Given the description of an element on the screen output the (x, y) to click on. 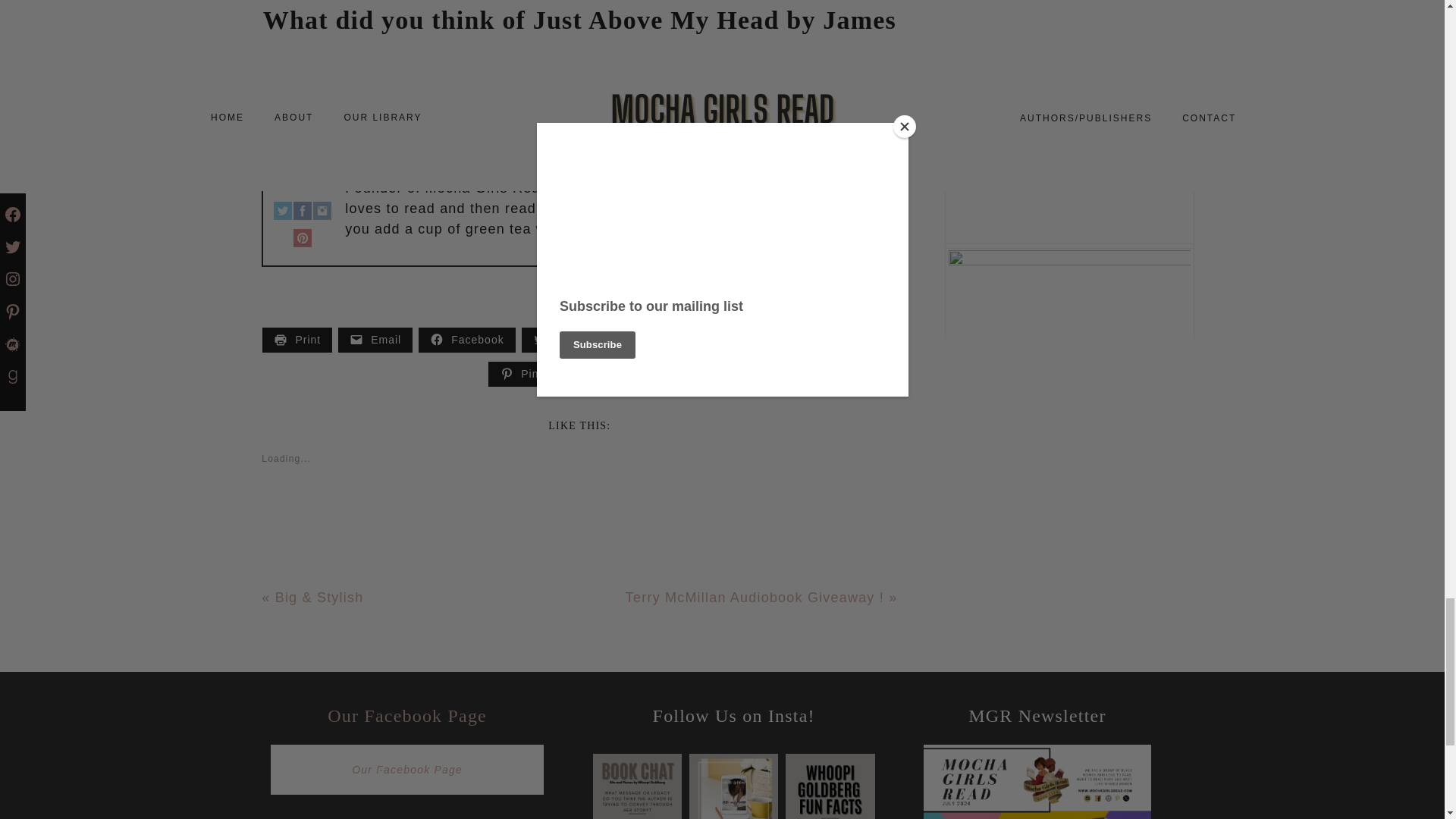
Click to print (296, 339)
Click to share on WhatsApp (657, 339)
Click to share on LinkedIn (844, 339)
Click to share on Twitter (561, 339)
Click to share on Pocket (753, 339)
Click to share on Facebook (467, 339)
Click to email a link to a friend (374, 339)
